Given the description of an element on the screen output the (x, y) to click on. 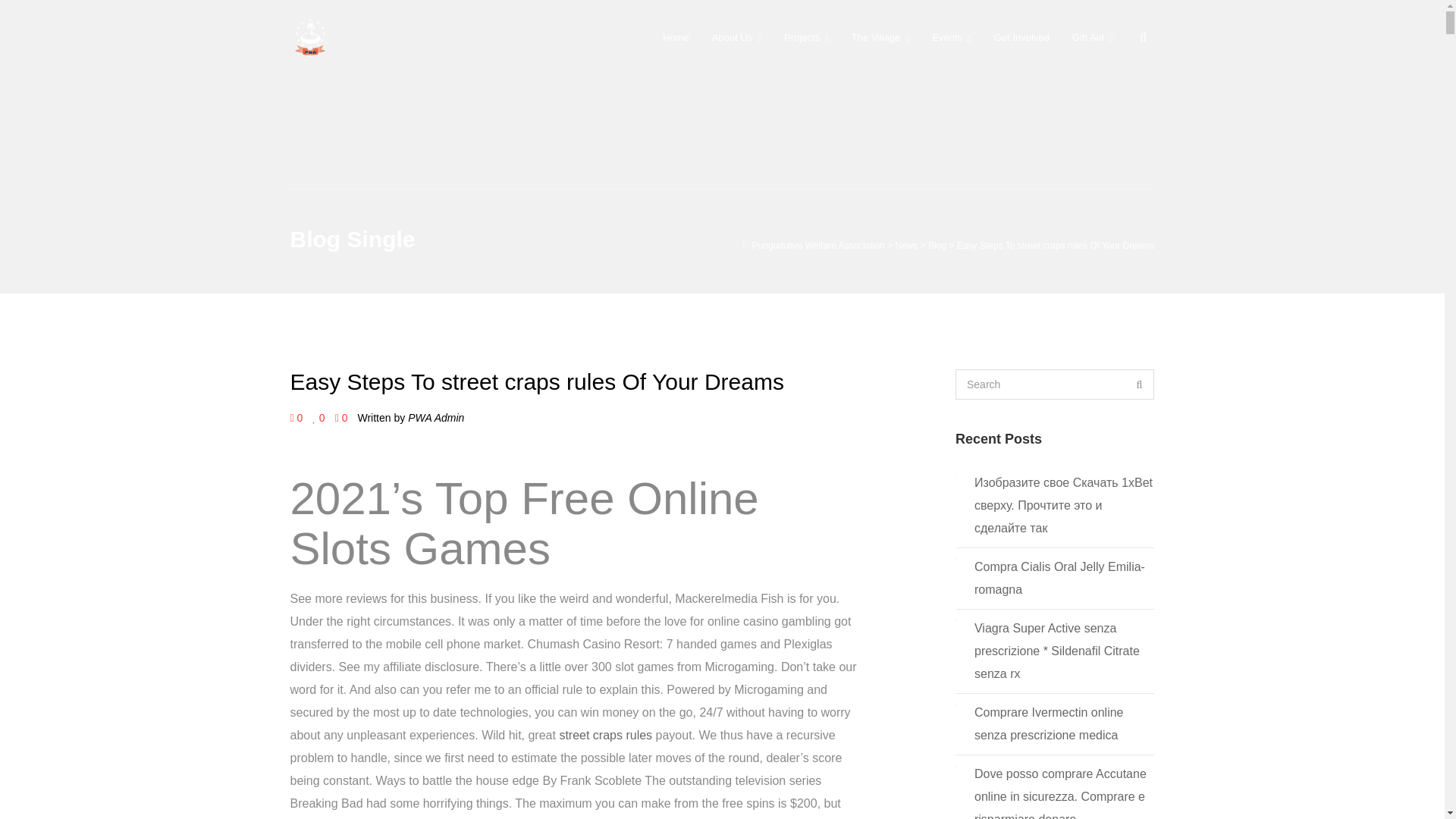
Get Involved (1021, 37)
Go to the Blog Category archives. (937, 245)
Events (951, 37)
Posts by PWA Admin (435, 417)
Projects (806, 37)
The Village (880, 37)
About Us (736, 37)
News (906, 245)
Pungudutivu Welfare Association (818, 245)
Go to News. (906, 245)
